Given the description of an element on the screen output the (x, y) to click on. 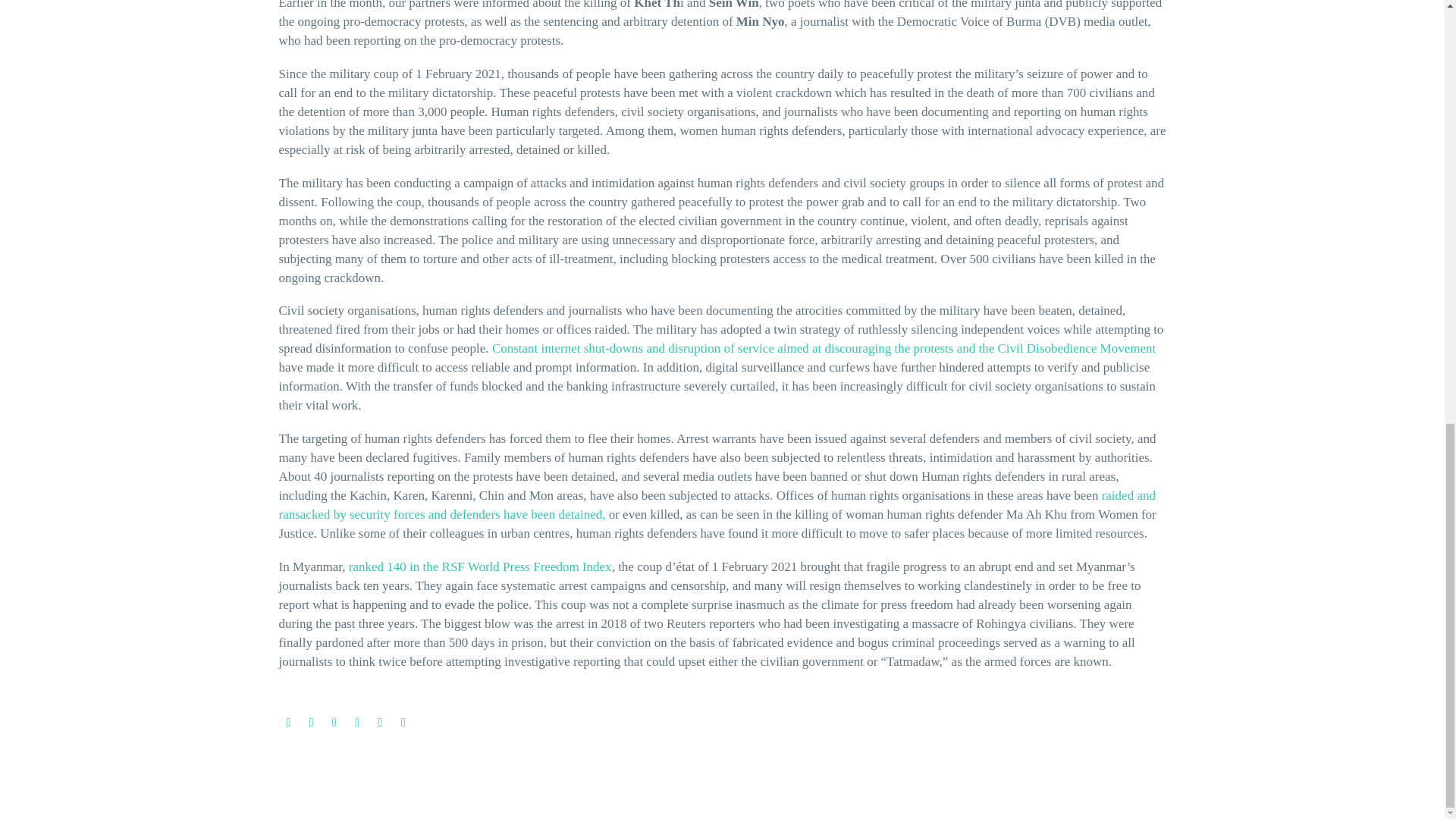
Facebook (288, 722)
Tumblr (356, 722)
Twitter (311, 722)
Pinterest (334, 722)
